Given the description of an element on the screen output the (x, y) to click on. 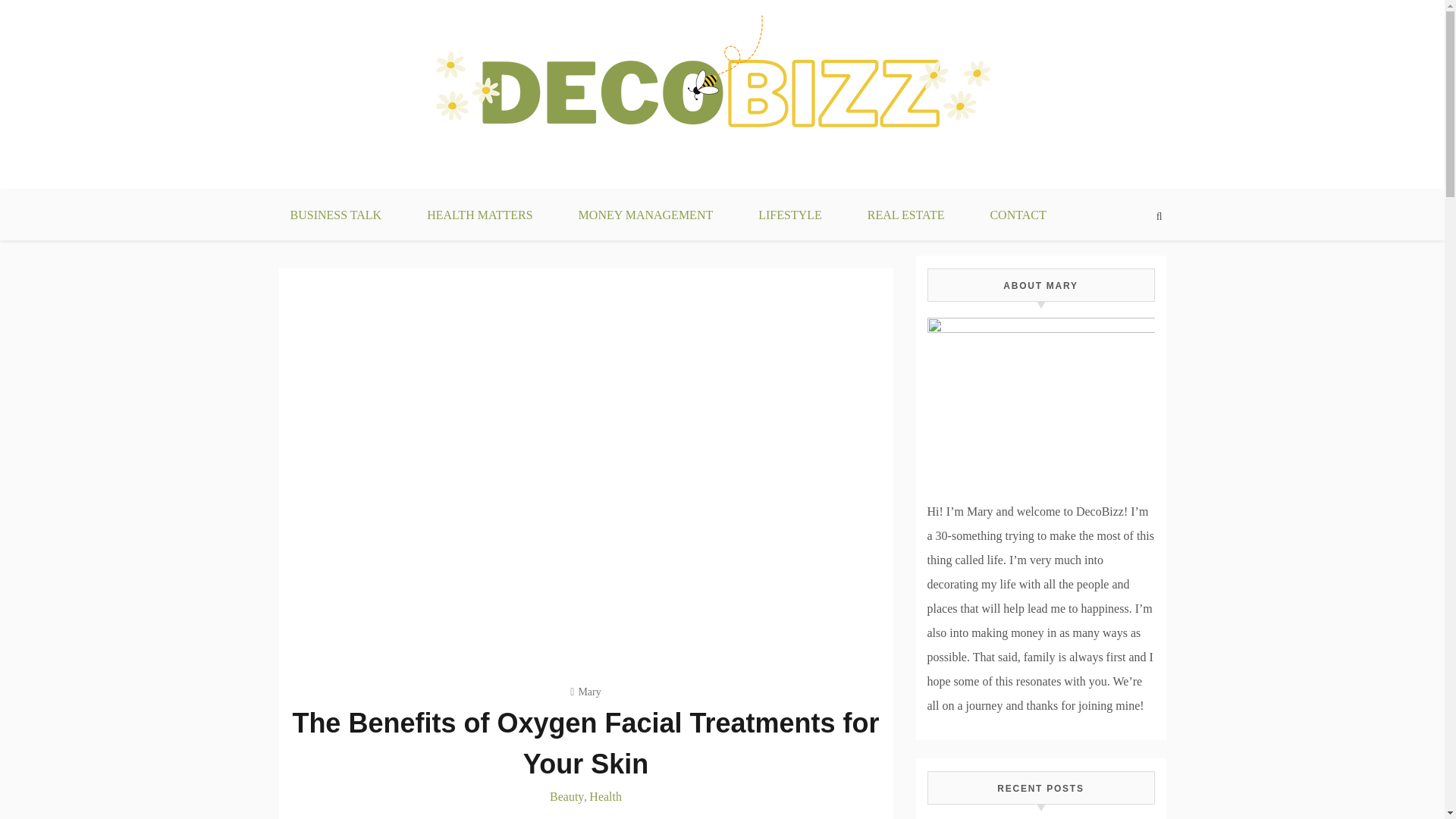
MONEY MANAGEMENT (646, 215)
REAL ESTATE (906, 215)
CONTACT (1017, 215)
LIFESTYLE (789, 215)
Mary (584, 691)
Health (605, 796)
BUSINESS TALK (335, 215)
HEALTH MATTERS (479, 215)
Beauty (566, 796)
DecoBizz Lifestyle Blog (416, 198)
